Given the description of an element on the screen output the (x, y) to click on. 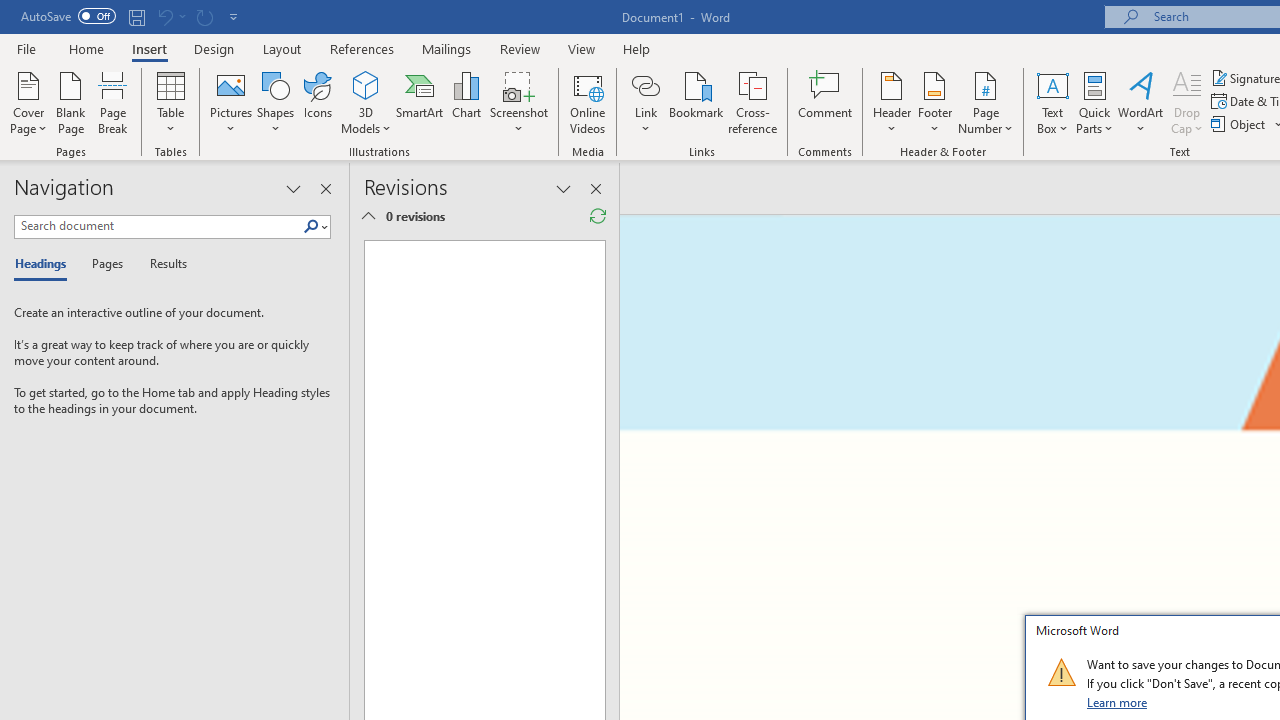
Icons (317, 102)
Footer (934, 102)
3D Models (366, 102)
Cover Page (28, 102)
Screenshot (518, 102)
Refresh Reviewing Pane (597, 215)
Bookmark... (695, 102)
Blank Page (70, 102)
Link (645, 102)
